Given the description of an element on the screen output the (x, y) to click on. 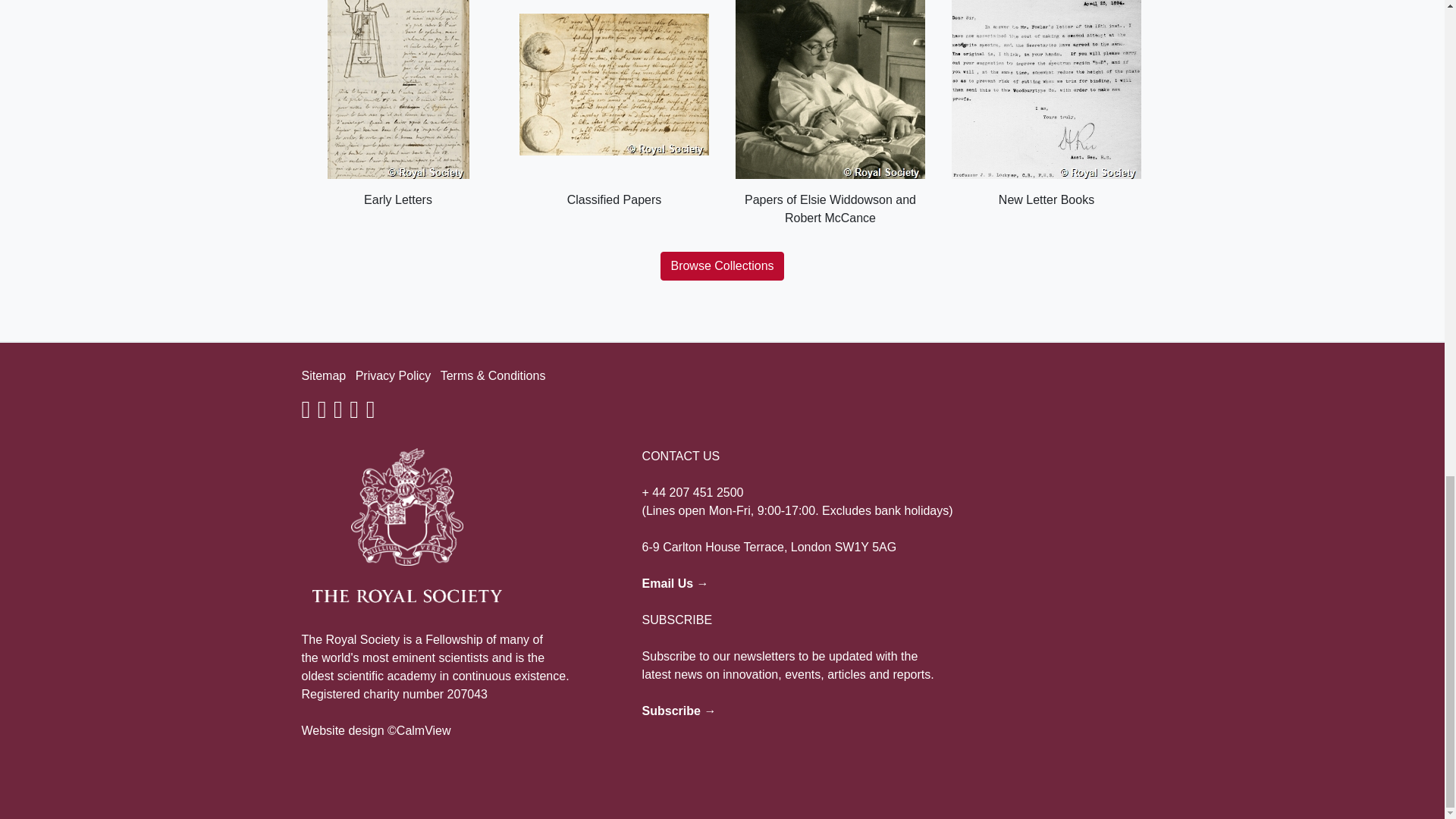
Classified Papers (613, 104)
Privacy Policy (392, 375)
Sitemap (323, 375)
Browse Collections (722, 265)
Early Letters (398, 104)
New Letter Books (1045, 104)
